Given the description of an element on the screen output the (x, y) to click on. 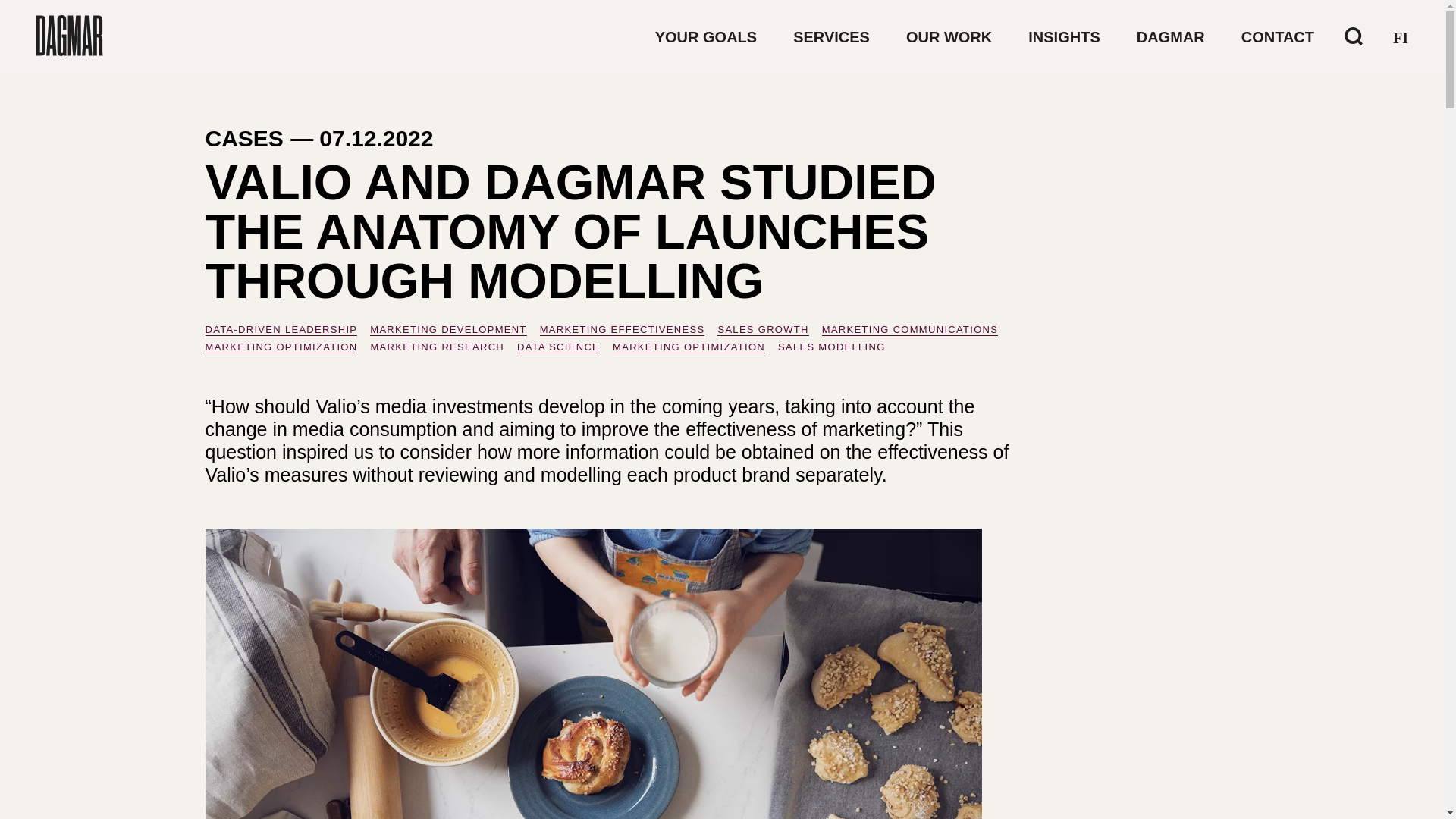
DAGMAR (1171, 36)
INSIGHTS (1063, 36)
SERVICES (831, 36)
YOUR GOALS (706, 36)
OUR WORK (948, 36)
Suomi (1400, 37)
